Given the description of an element on the screen output the (x, y) to click on. 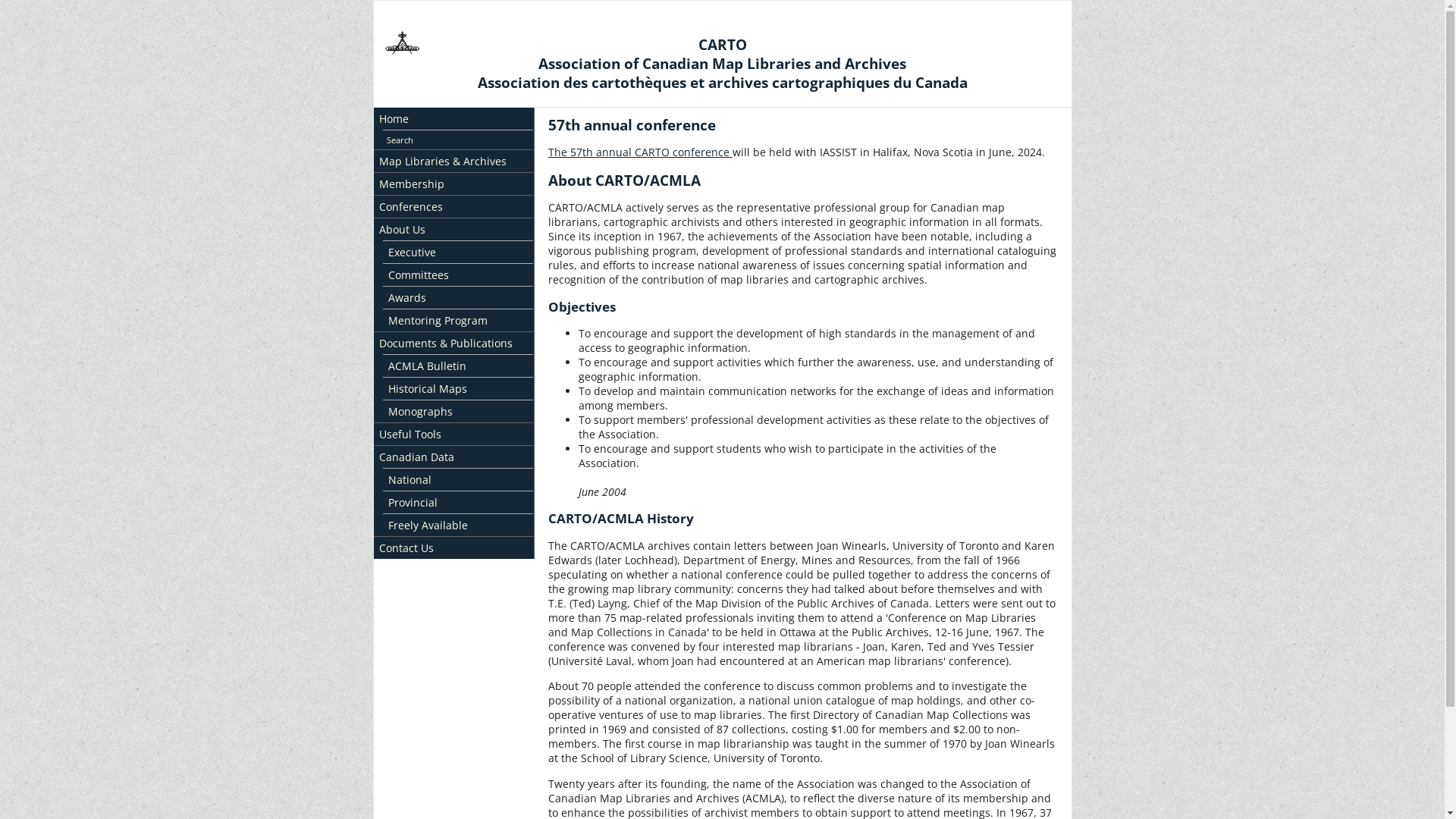
About Us Element type: text (452, 229)
Documents & Publications Element type: text (452, 343)
Canadian Data Element type: text (452, 456)
Conferences Element type: text (452, 206)
Home Element type: text (452, 118)
Provincial Element type: text (457, 502)
Mentoring Program Element type: text (457, 320)
Search Element type: text (457, 139)
Executive Element type: text (457, 252)
Membership Element type: text (452, 183)
Awards Element type: text (457, 297)
Freely Available Element type: text (457, 525)
Monographs Element type: text (457, 411)
Map Libraries & Archives Element type: text (452, 161)
Historical Maps Element type: text (457, 388)
National Element type: text (457, 479)
Committees Element type: text (457, 274)
The 57th annual CARTO conference Element type: text (639, 151)
ACMLA Bulletin Element type: text (457, 365)
Contact Us Element type: text (452, 547)
Useful Tools Element type: text (452, 434)
